Given the description of an element on the screen output the (x, y) to click on. 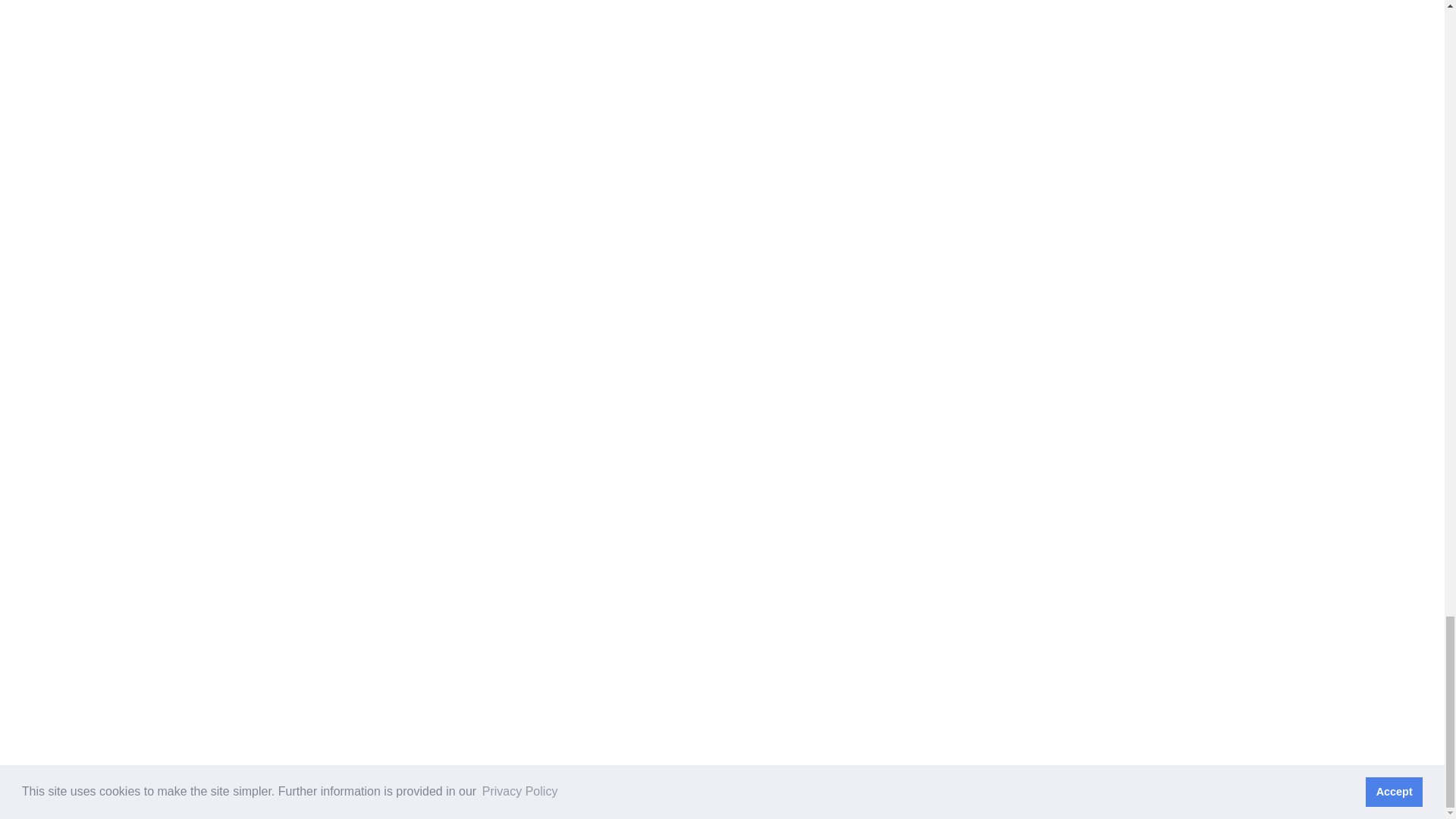
Subscribe (1040, 451)
